Given the description of an element on the screen output the (x, y) to click on. 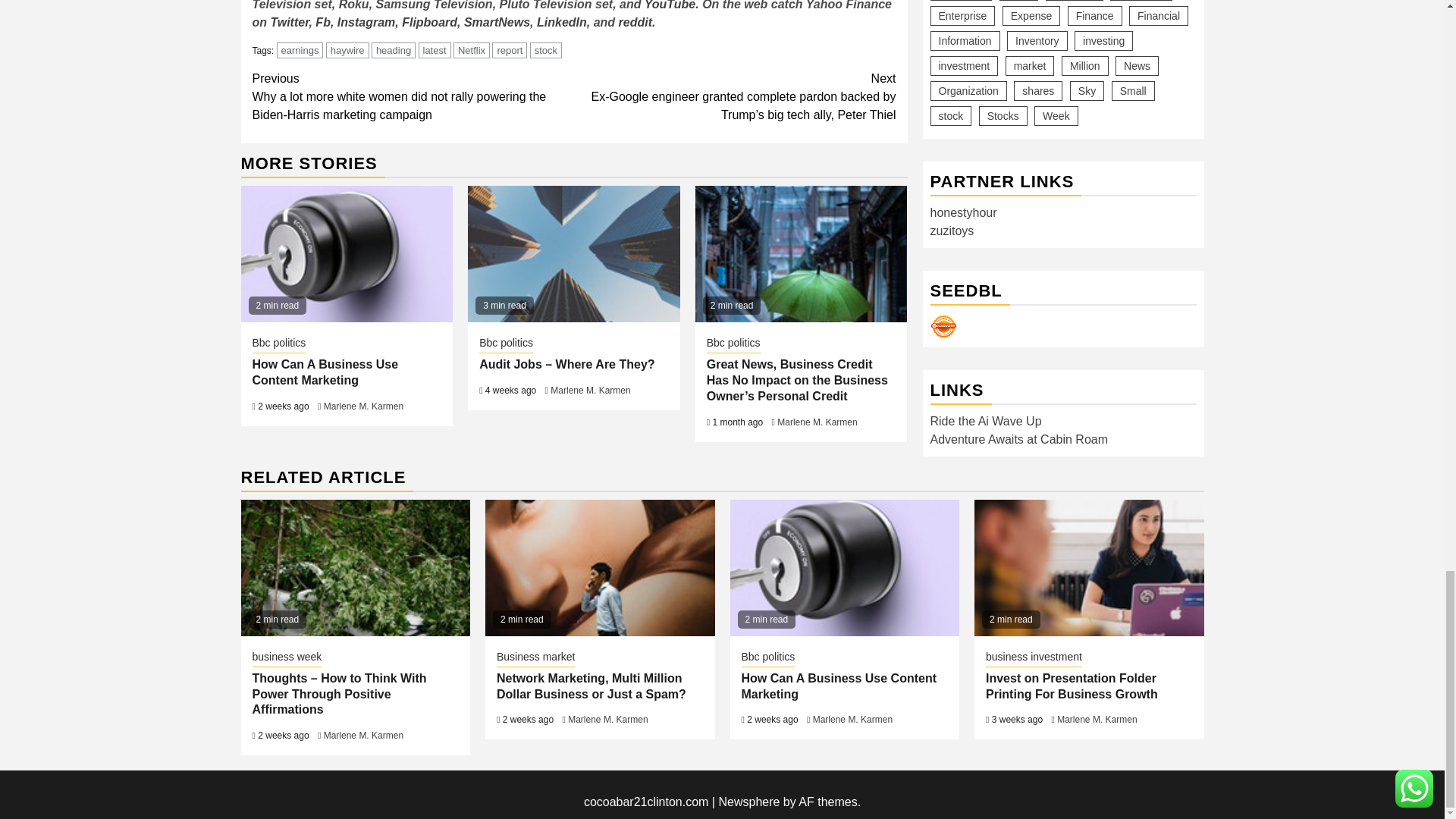
Instagram (365, 21)
LinkedIn (561, 21)
SmartNews (496, 21)
YouTube (670, 5)
Twitter (288, 21)
How Can A Business Use Content Marketing (346, 253)
Fb (322, 21)
Flipboard (429, 21)
